Given the description of an element on the screen output the (x, y) to click on. 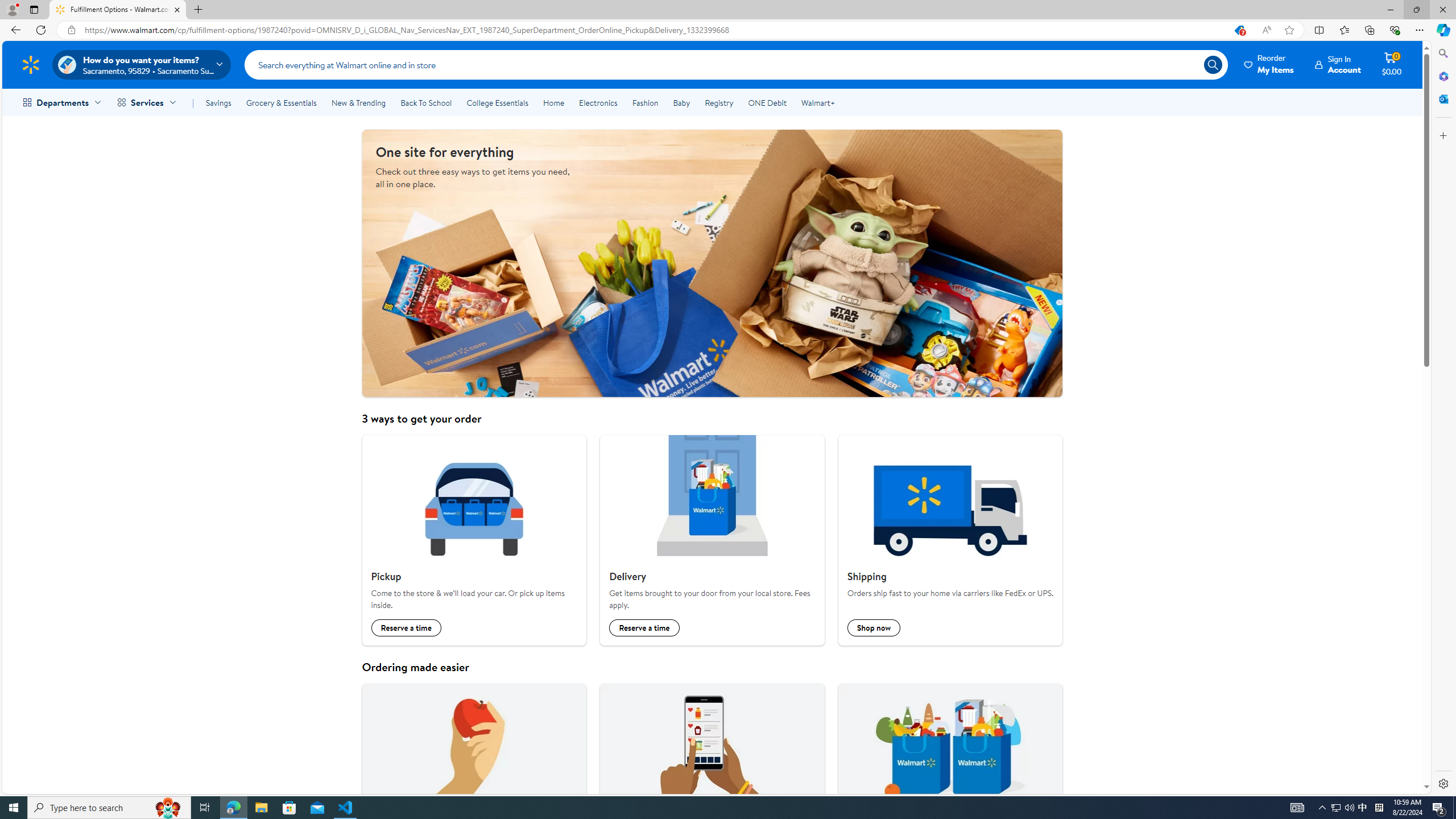
Baby (681, 102)
Back To School (425, 102)
Registry (718, 102)
Savings (217, 102)
Grocery & Essentials (280, 102)
Electronics (598, 102)
Cart contains 0 items Total Amount $0.00 (1391, 64)
Walmart+ (817, 102)
